Given the description of an element on the screen output the (x, y) to click on. 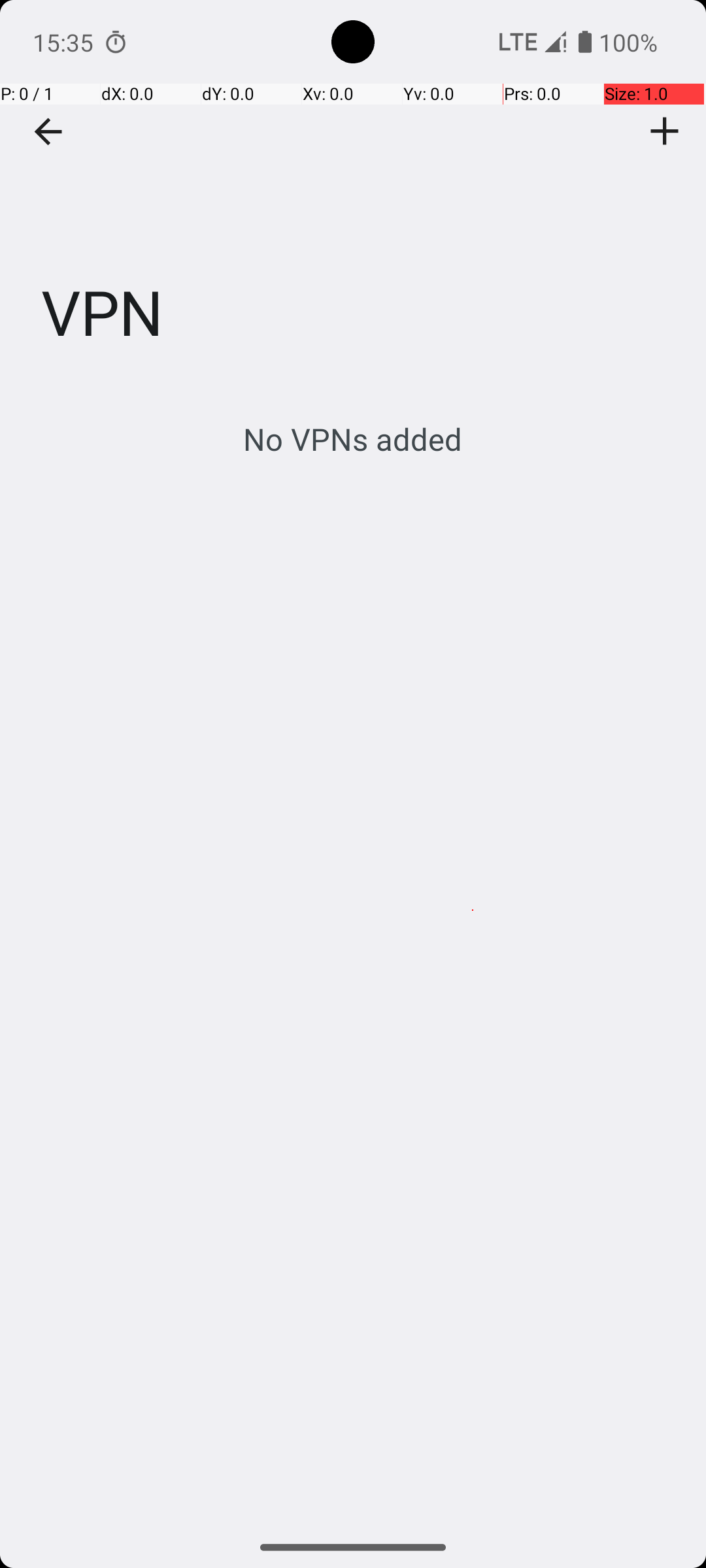
No VPNs added Element type: android.widget.TextView (352, 438)
Add VPN profile Element type: android.widget.TextView (664, 131)
